Given the description of an element on the screen output the (x, y) to click on. 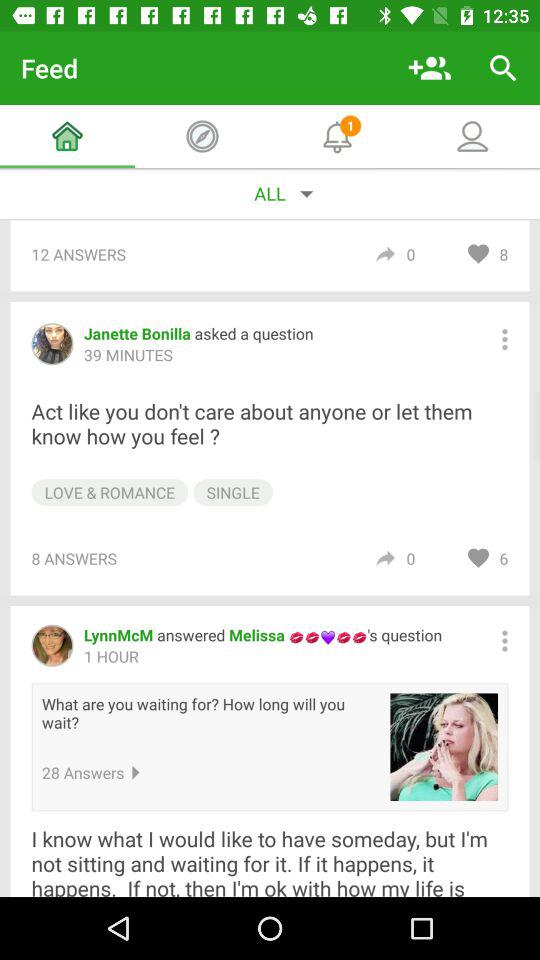
click icon next to the what are you (443, 747)
